Given the description of an element on the screen output the (x, y) to click on. 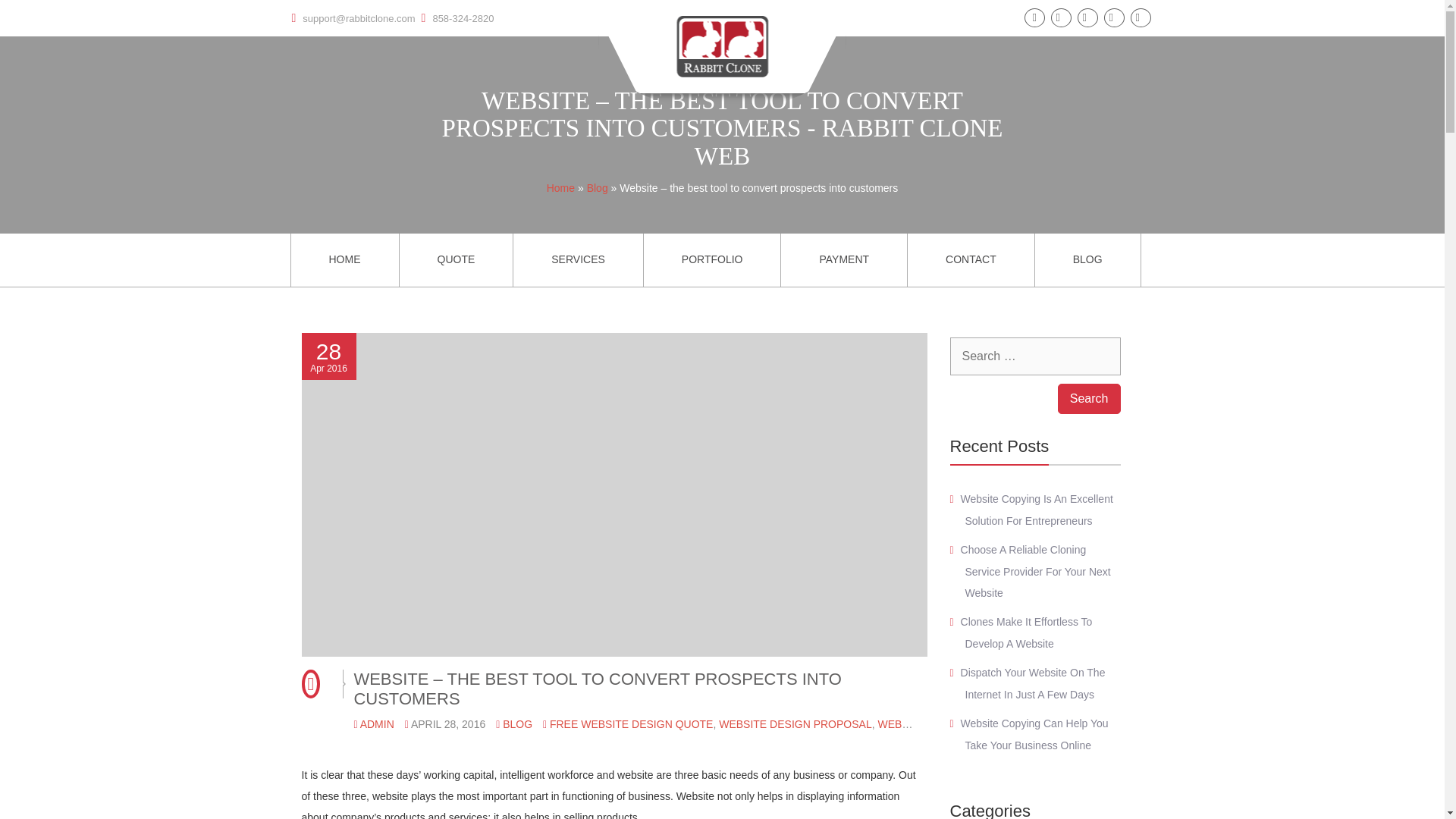
Search (1089, 399)
CONTACT (970, 259)
WEBSITE DESIGN PROPOSAL (795, 724)
Search (1089, 399)
Blog (597, 187)
WEBSITE DESIGNERS (933, 724)
PORTFOLIO (711, 259)
Search (1089, 399)
admin (376, 724)
Home (561, 187)
Website Copying Is An Excellent Solution For Entrepreneurs (1036, 510)
HOME (344, 259)
BLOG (1087, 259)
PAYMENT (843, 259)
